Given the description of an element on the screen output the (x, y) to click on. 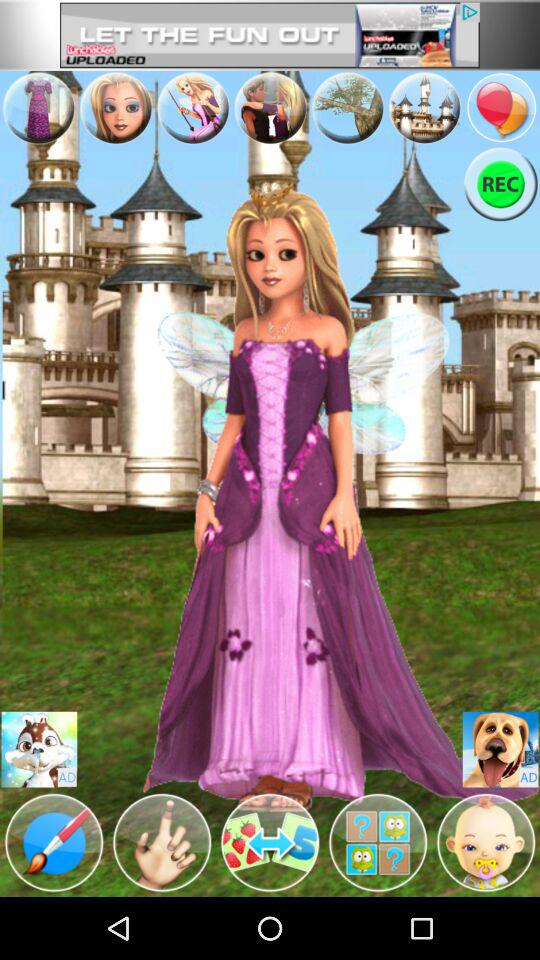
select image (39, 749)
